Given the description of an element on the screen output the (x, y) to click on. 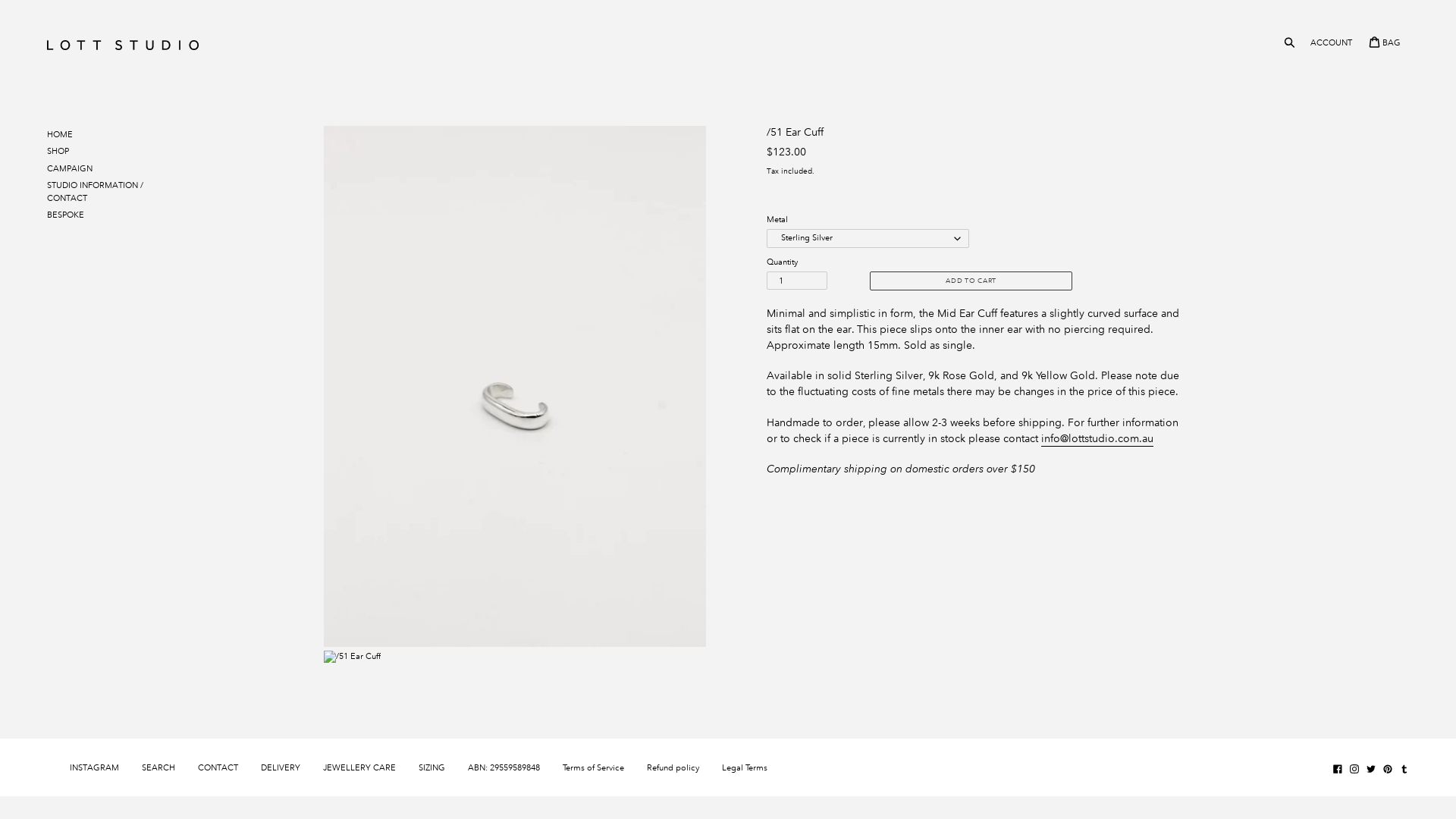
SHOP Element type: text (61, 151)
ABN: 29559589848 Element type: text (503, 767)
BESPOKE Element type: text (98, 214)
CONTACT Element type: text (217, 767)
Instagram Element type: text (1353, 768)
INSTAGRAM Element type: text (94, 767)
Tumblr Element type: text (1403, 768)
DELIVERY Element type: text (280, 767)
JEWELLERY CARE Element type: text (359, 767)
CAMPAIGN Element type: text (73, 168)
ADD TO CART Element type: text (970, 280)
Search Element type: text (1290, 42)
STUDIO INFORMATION /
CONTACT Element type: text (98, 191)
Twitter Element type: text (1370, 768)
Pinterest Element type: text (1387, 768)
Legal Terms Element type: text (744, 767)
SIZING Element type: text (431, 767)
Facebook Element type: text (1337, 768)
Terms of Service Element type: text (593, 767)
BAG Element type: text (1384, 42)
info@lottstudio.com.au Element type: text (1097, 438)
HOME Element type: text (98, 134)
SEARCH Element type: text (158, 767)
ACCOUNT Element type: text (1331, 42)
Refund policy Element type: text (672, 767)
